Given the description of an element on the screen output the (x, y) to click on. 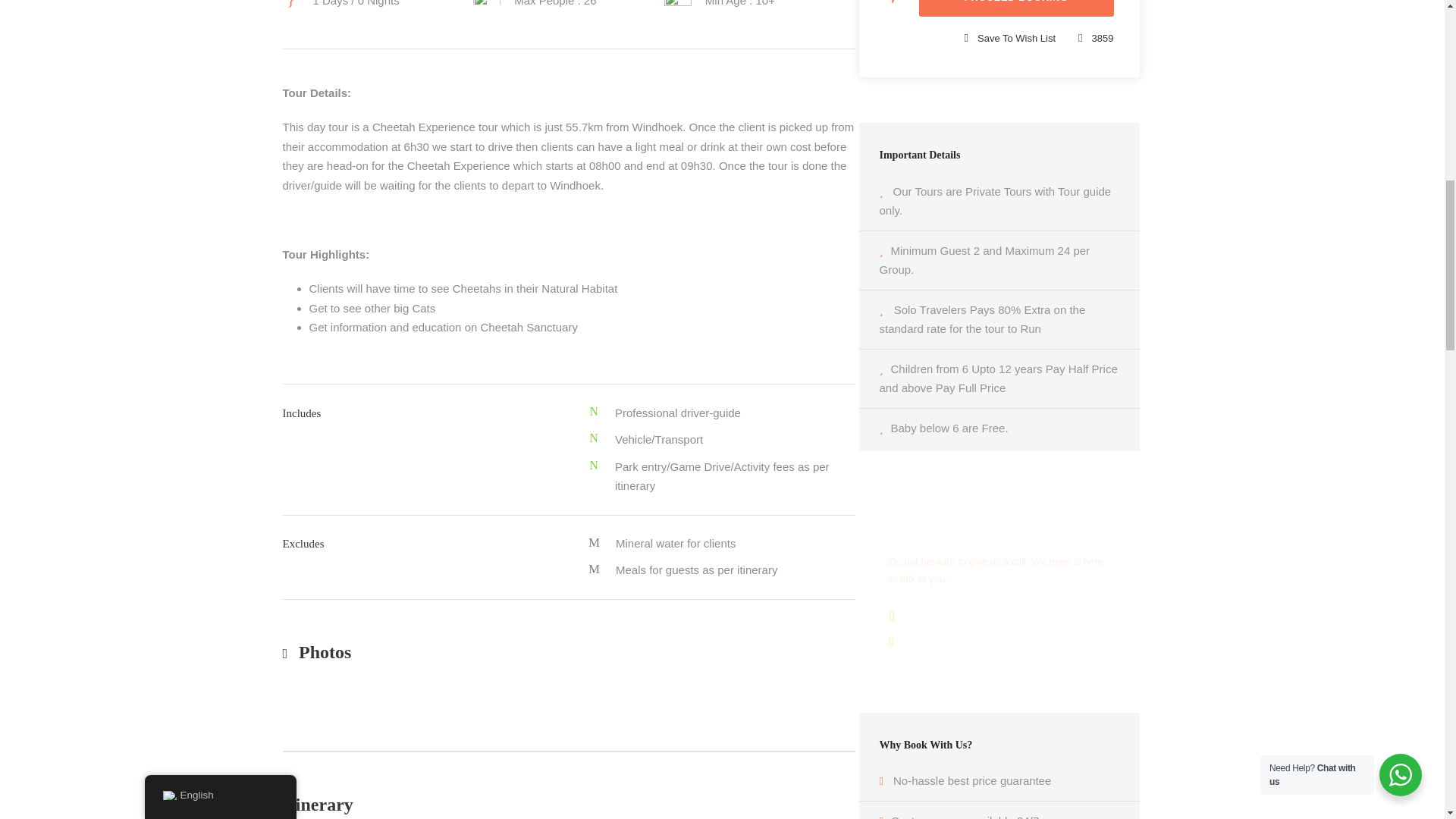
single-icon-2 (486, 2)
single-icon-4 (677, 3)
Proceed Booking (1015, 8)
